Given the description of an element on the screen output the (x, y) to click on. 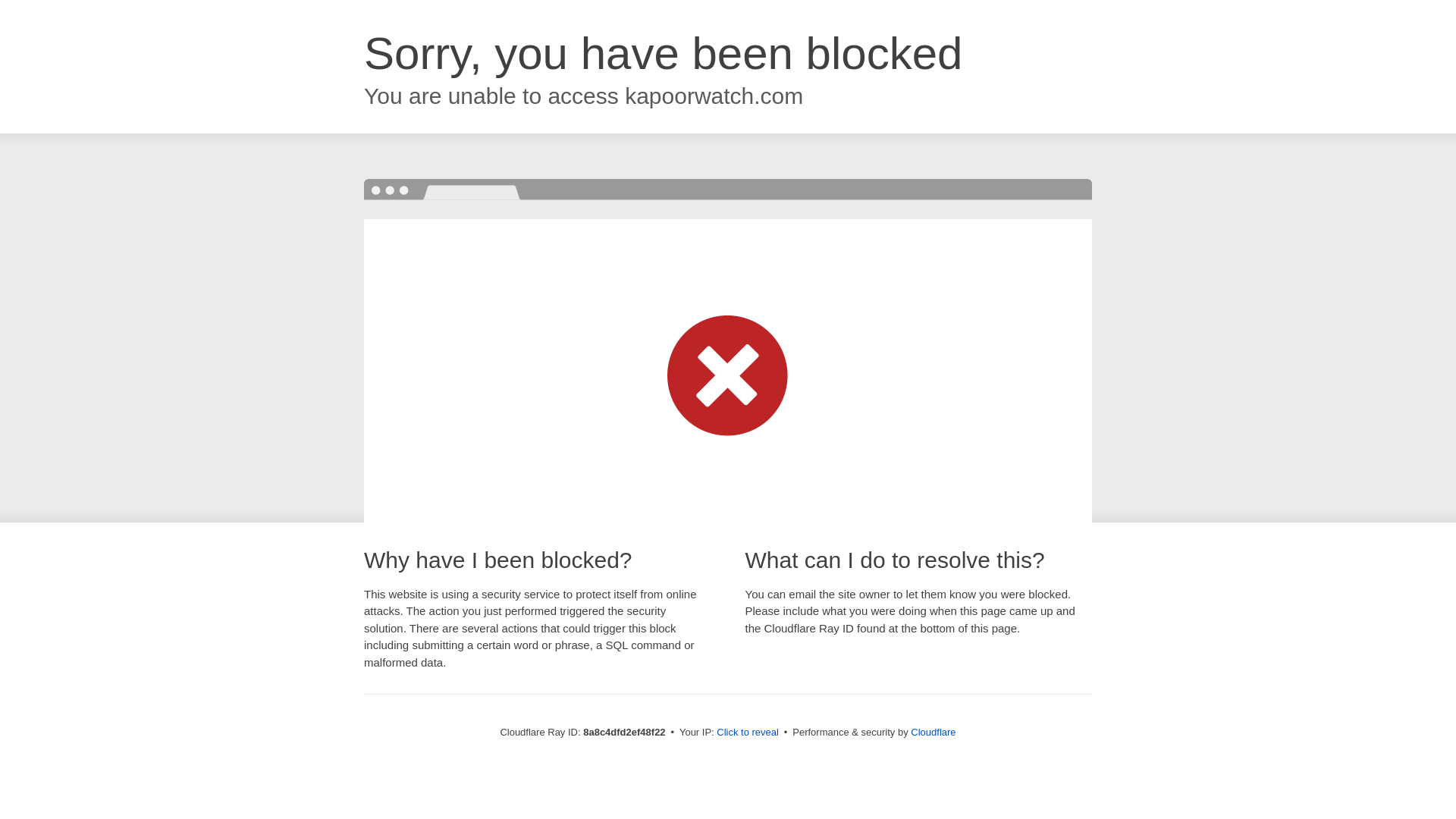
Click to reveal (747, 732)
Cloudflare (933, 731)
